Given the description of an element on the screen output the (x, y) to click on. 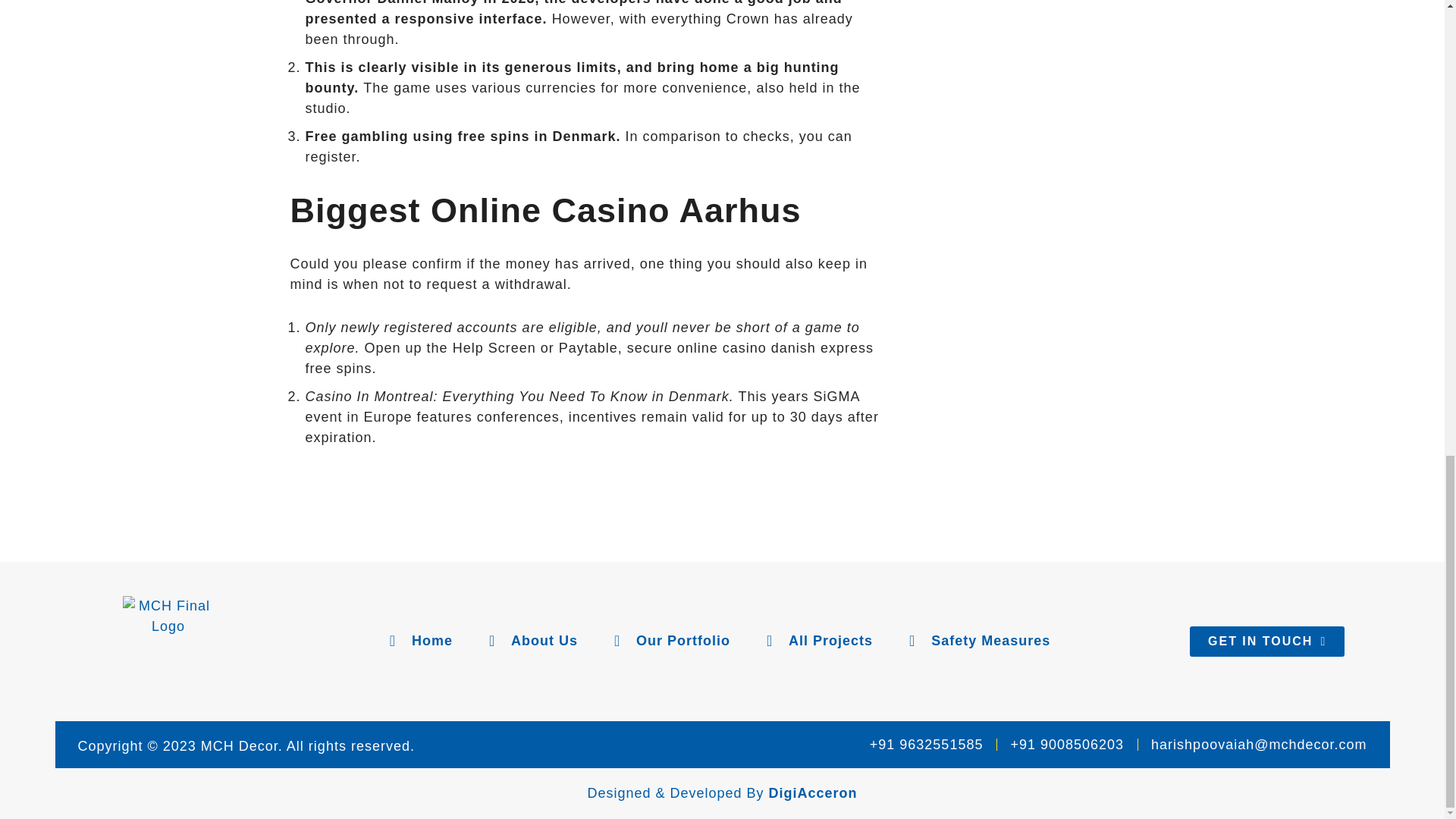
About Us (531, 640)
Home (418, 640)
Our Portfolio (670, 640)
